Given the description of an element on the screen output the (x, y) to click on. 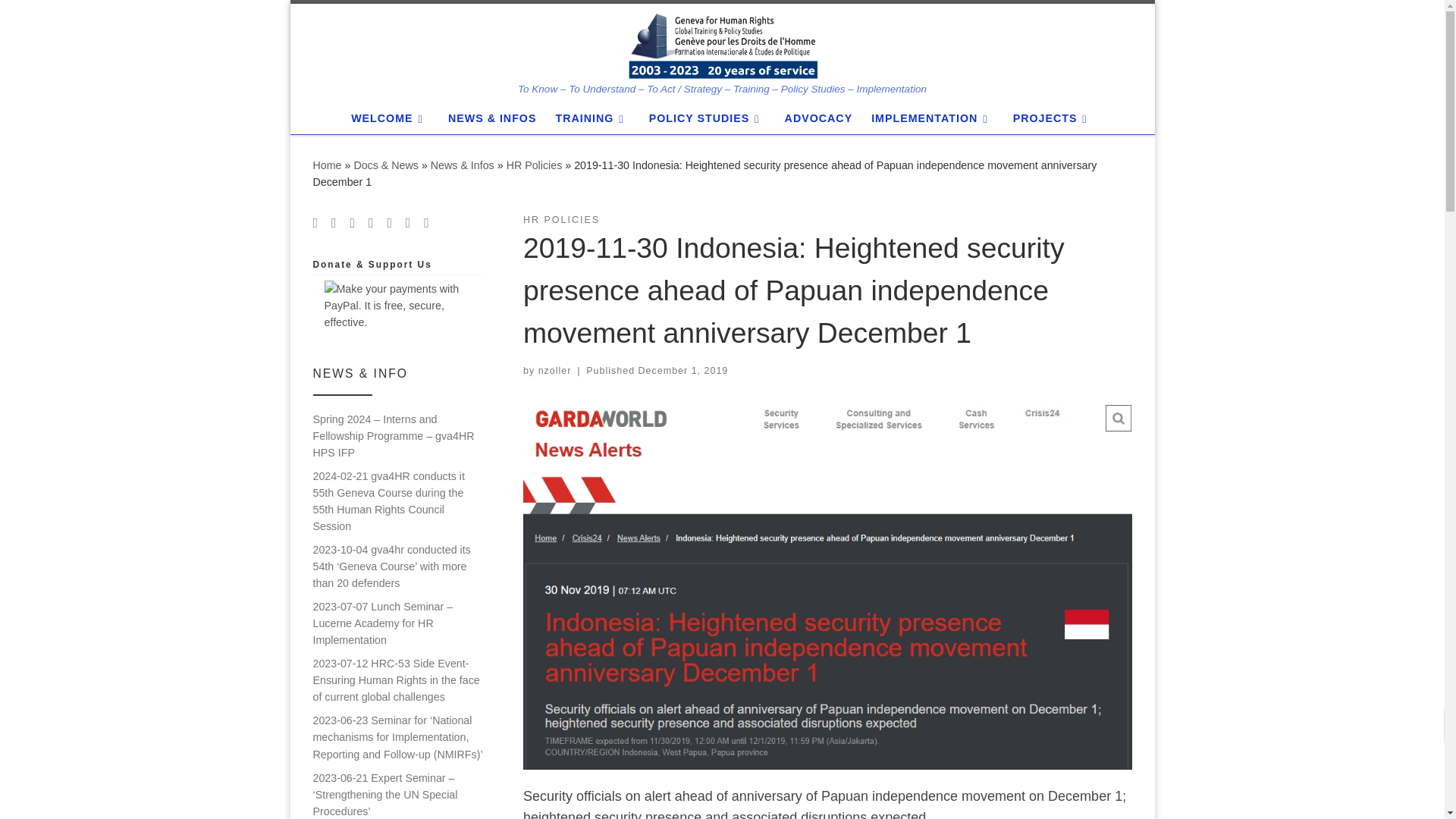
TRAINING (592, 118)
HR Policies (534, 164)
WELCOME (389, 118)
Skip to content (60, 20)
View all posts in HR Policies (560, 219)
ADVOCACY (817, 118)
IMPLEMENTATION (932, 118)
POLICY STUDIES (706, 118)
00:58 (684, 370)
PROJECTS (1052, 118)
